Given the description of an element on the screen output the (x, y) to click on. 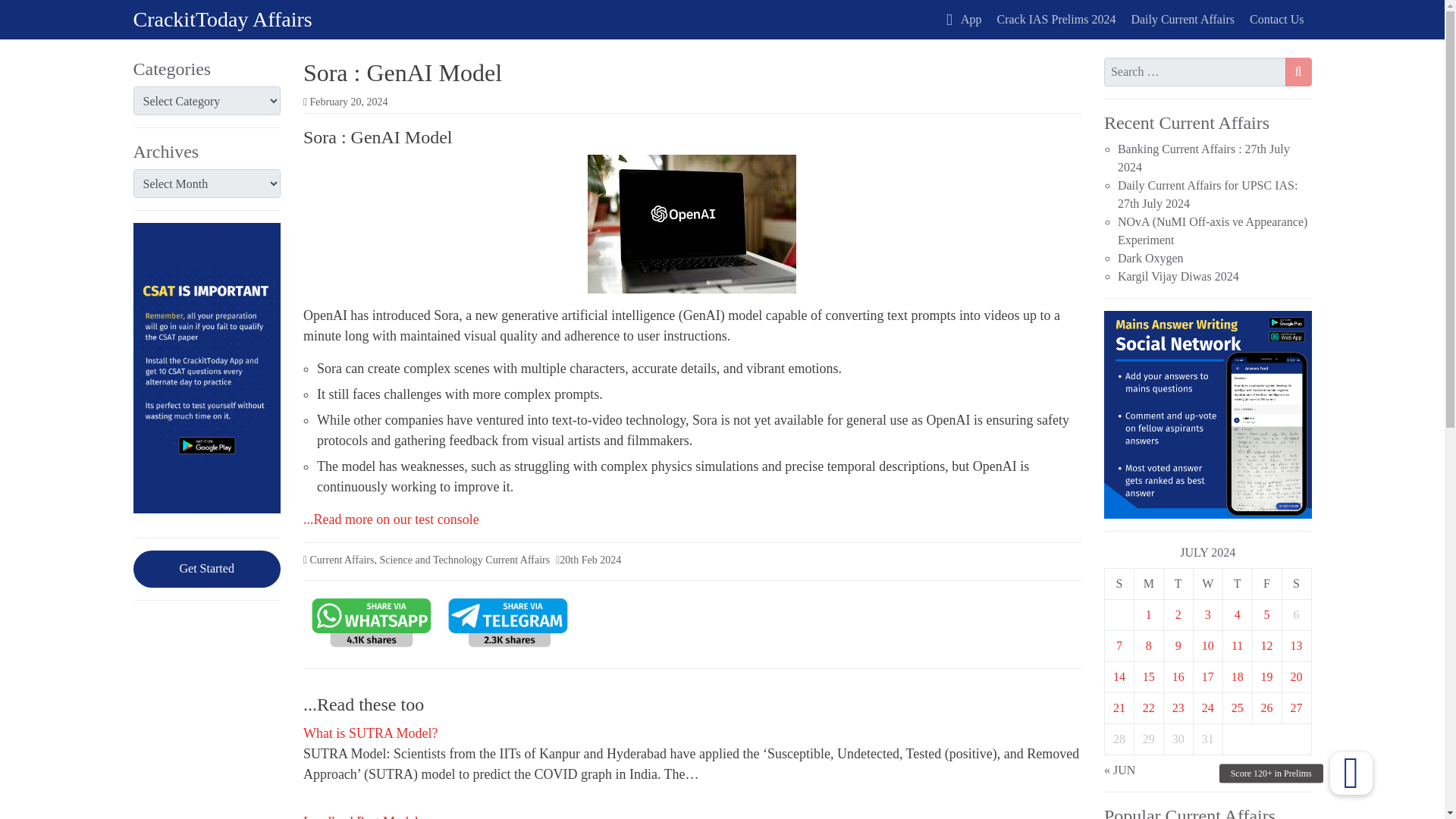
Daily Current Affairs for UPSC IAS: 27th July 2024 (1207, 194)
Banking Current Affairs : 27th July 2024 (1204, 157)
  App (963, 19)
10 (1208, 645)
Get Started (207, 569)
Landlord Port Model (360, 816)
Current Affairs (342, 559)
CrackitToday Affairs (223, 19)
CrackitToday Affairs (223, 19)
Dark Oxygen (1150, 257)
...Read more on our test console (390, 519)
Monday (1148, 583)
20th Feb 2024 (590, 559)
Friday (1266, 583)
Crack IAS Prelims 2024 (1057, 19)
